Given the description of an element on the screen output the (x, y) to click on. 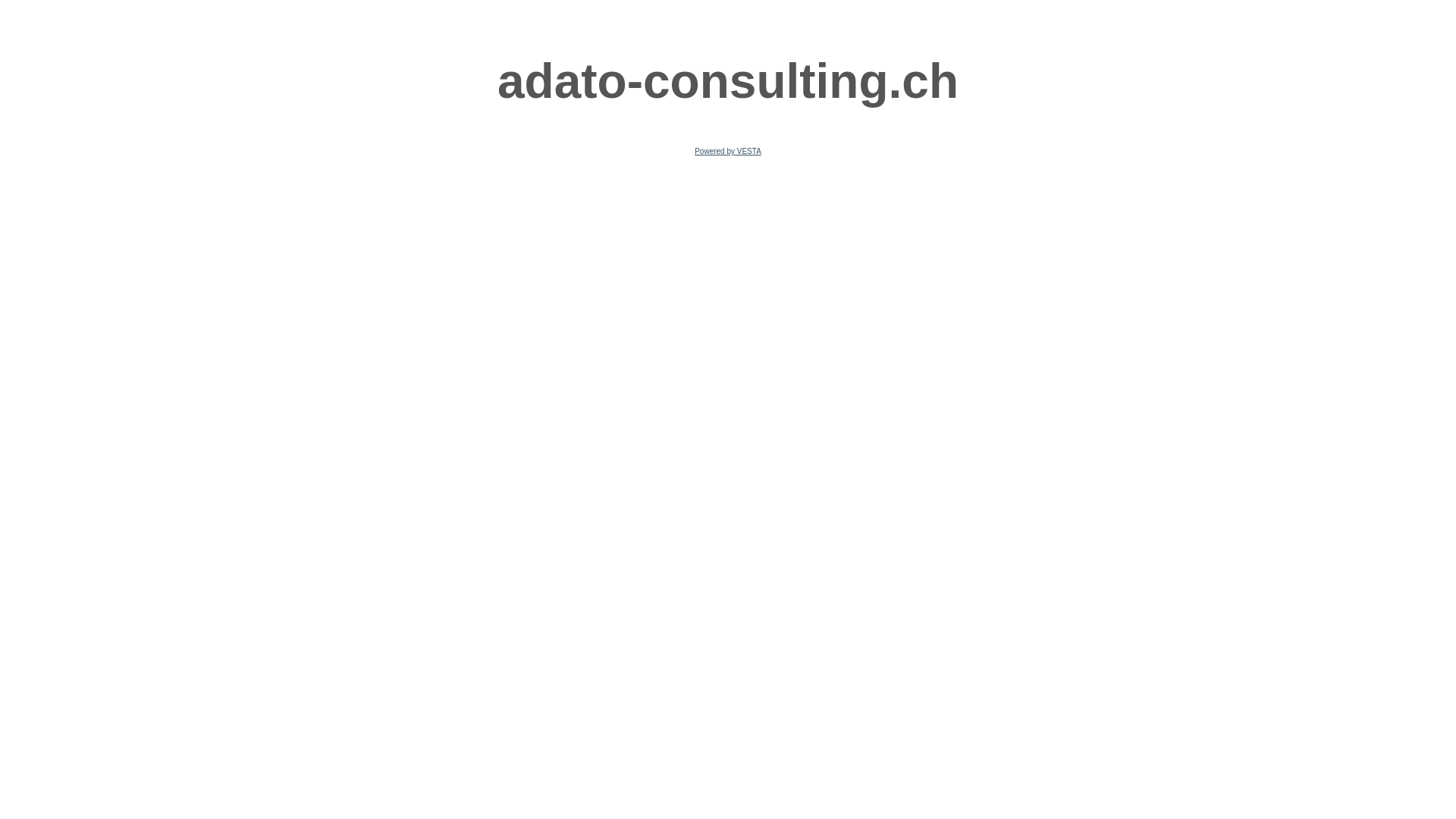
Powered by VESTA Element type: text (727, 151)
